Given the description of an element on the screen output the (x, y) to click on. 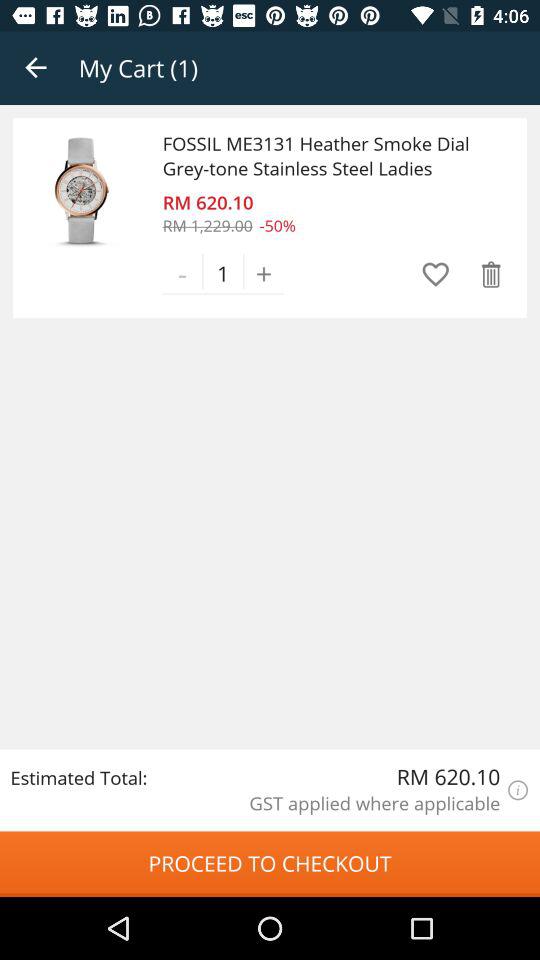
launch the item next to + icon (435, 274)
